Given the description of an element on the screen output the (x, y) to click on. 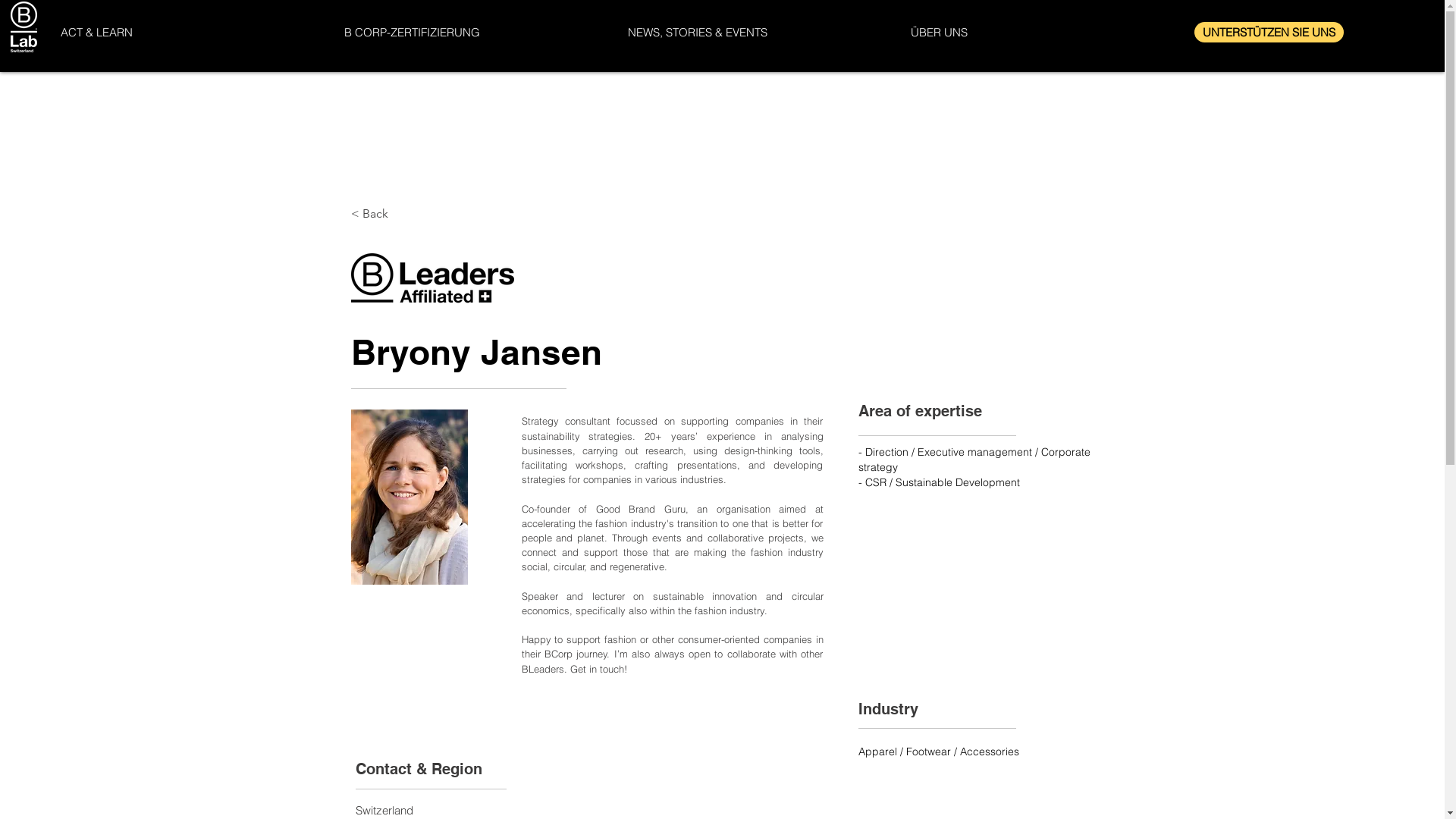
B LEADERS AFFILIATED (EN).png Element type: hover (431, 281)
< Back Element type: text (400, 213)
Bryony_Jansen VanTuyll.jpeg Element type: hover (408, 496)
